Given the description of an element on the screen output the (x, y) to click on. 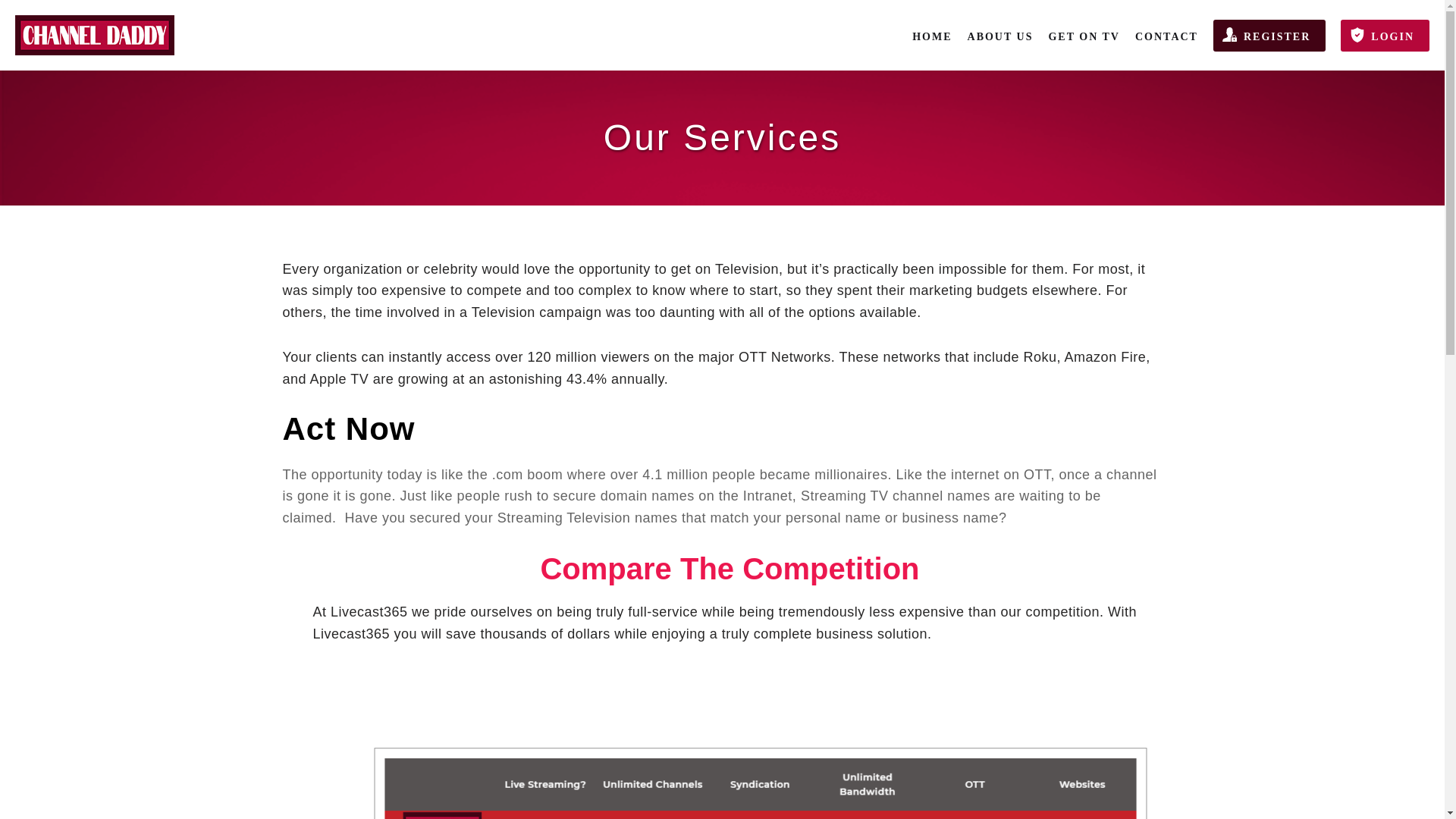
GET ON TV (1083, 36)
HOME (932, 36)
REGISTER (1276, 36)
LOGIN (1392, 36)
CONTACT (1166, 36)
ABOUT US (1000, 36)
